Given the description of an element on the screen output the (x, y) to click on. 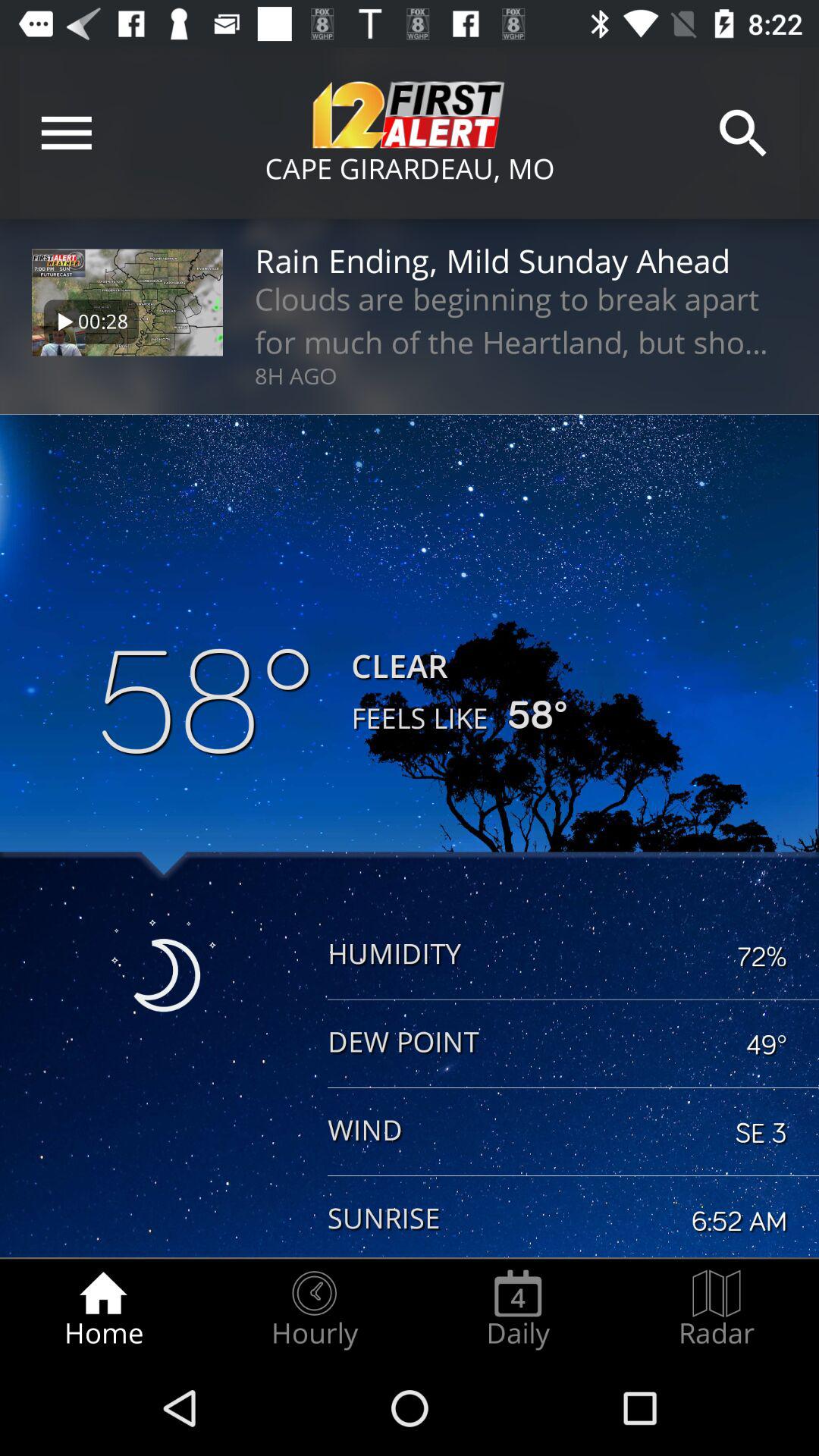
launch hourly item (314, 1309)
